Given the description of an element on the screen output the (x, y) to click on. 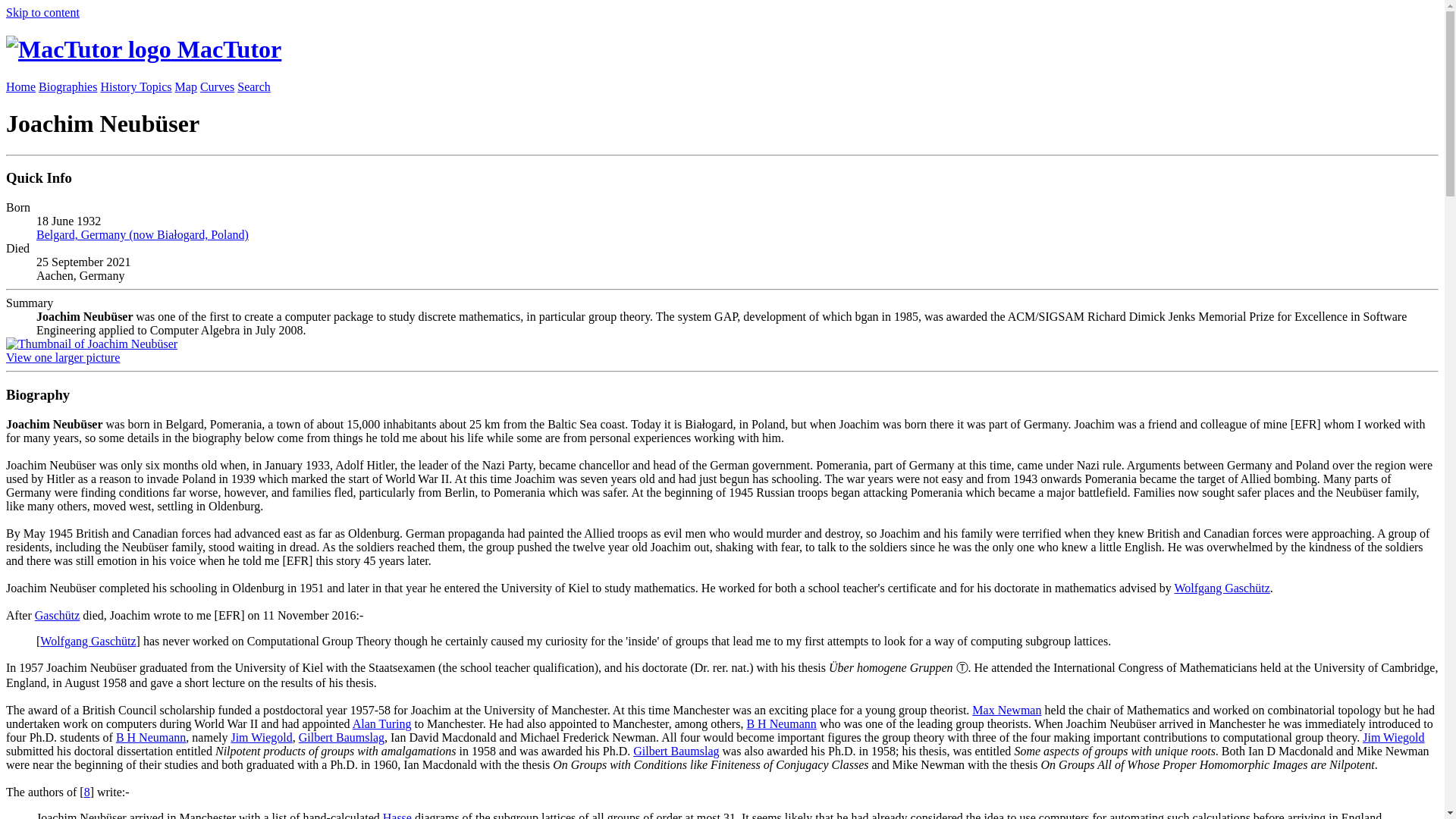
Jim Wiegold (1392, 737)
Biographies (68, 86)
Skip to content (42, 11)
Gilbert Baumslag (676, 750)
Map (185, 86)
History Topics (135, 86)
B H Neumann (151, 737)
Hasse (397, 815)
Max Newman (1006, 709)
Gilbert Baumslag (341, 737)
